Given the description of an element on the screen output the (x, y) to click on. 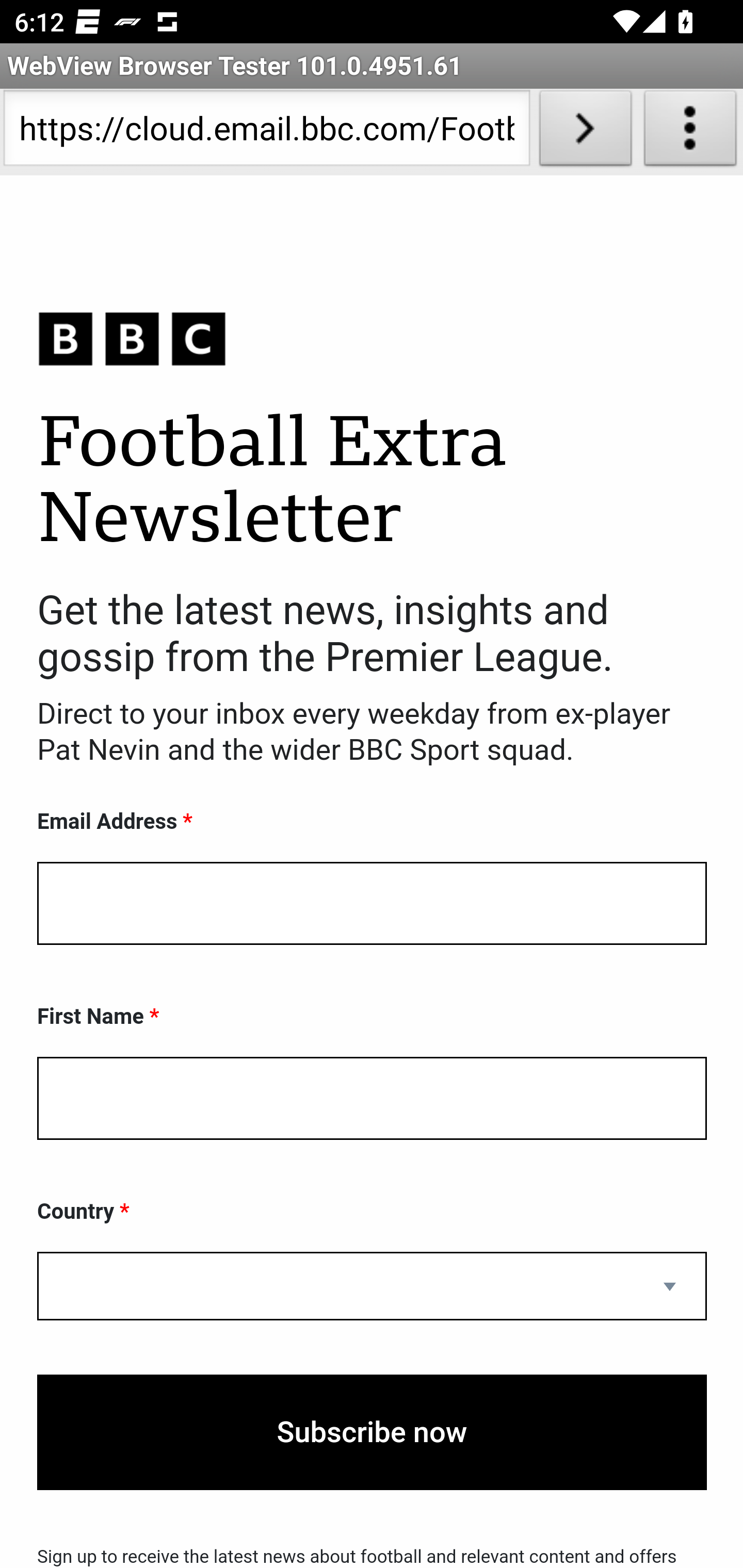
Load URL (585, 132)
About WebView (690, 132)
BBC (372, 338)
Subscribe now (372, 1432)
